Given the description of an element on the screen output the (x, y) to click on. 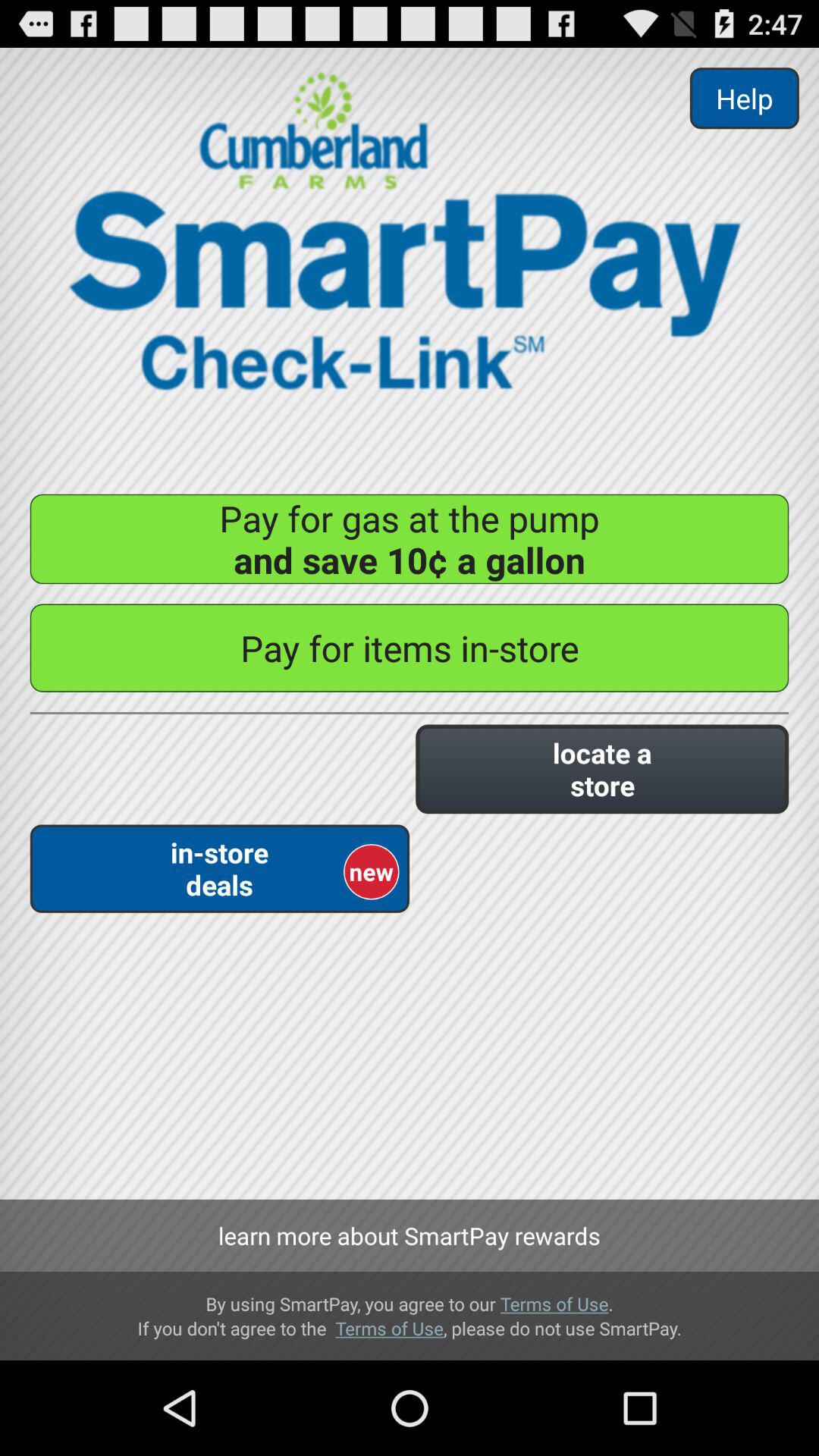
press the button on the right (601, 768)
